Given the description of an element on the screen output the (x, y) to click on. 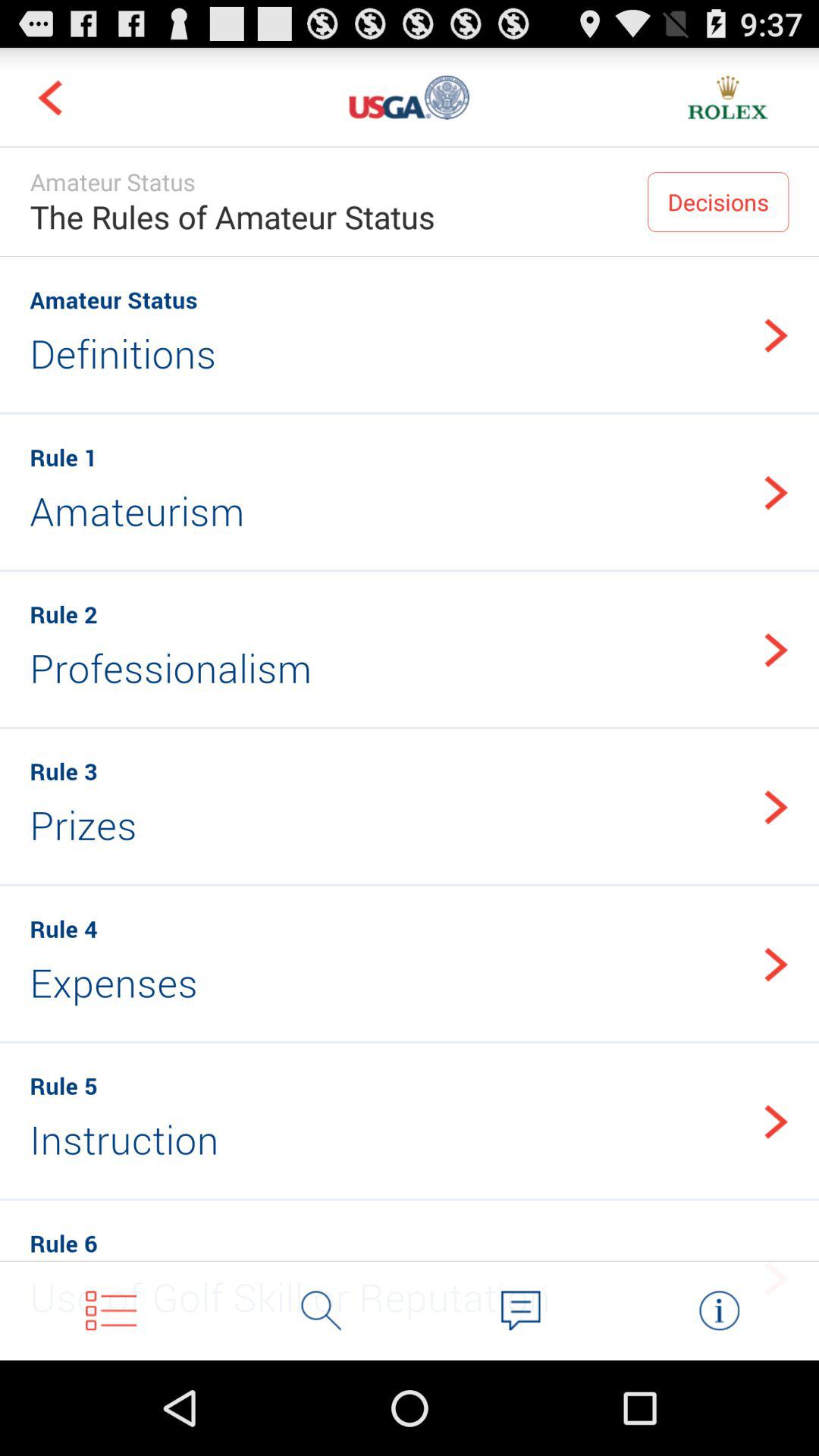
open chat (519, 1310)
